Given the description of an element on the screen output the (x, y) to click on. 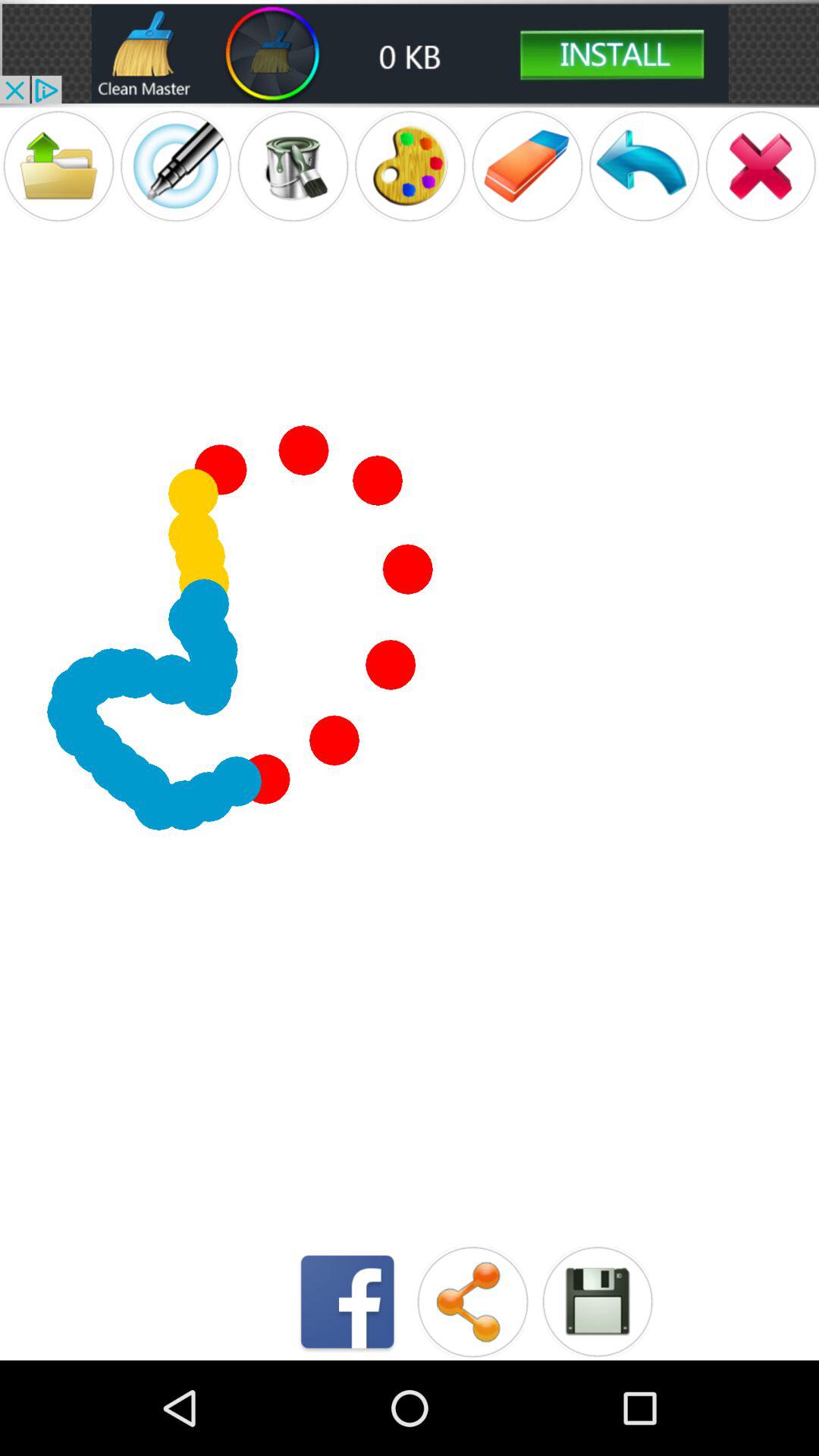
undo action (643, 165)
